Given the description of an element on the screen output the (x, y) to click on. 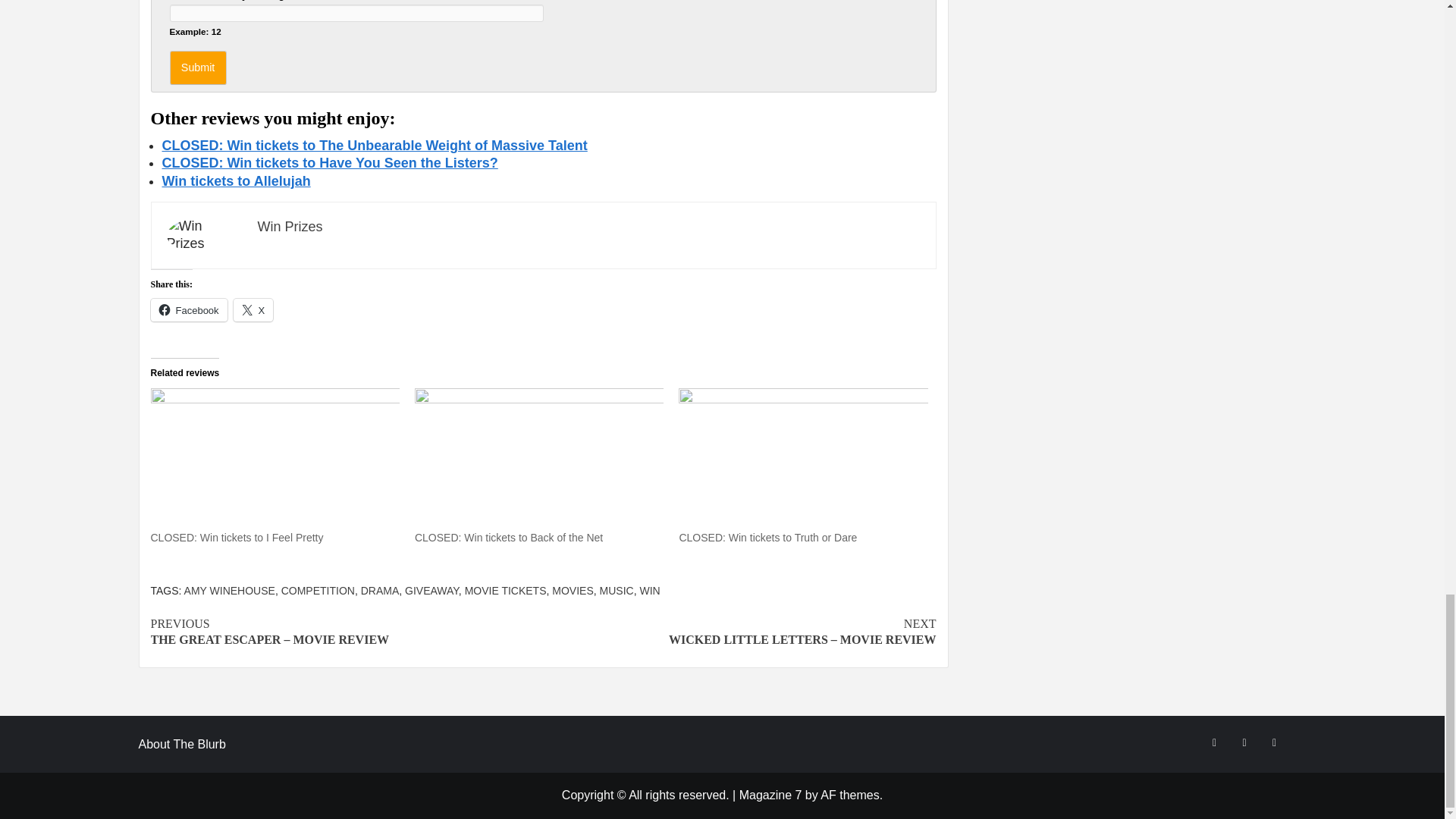
CLOSED: Win tickets to I Feel Pretty (236, 537)
CLOSED: Win tickets to I Feel Pretty (236, 537)
Click to share on Facebook (188, 309)
CLOSED: Win tickets to Truth or Dare (767, 537)
CLOSED: Win tickets to Truth or Dare (767, 537)
GIVEAWAY (431, 590)
CLOSED: Win tickets to Have You Seen the Listers? (329, 162)
DRAMA (379, 590)
COMPETITION (318, 590)
CLOSED: Win tickets to Have You Seen the Listers? (329, 162)
X (252, 309)
Win tickets to Allelujah (236, 181)
MOVIES (571, 590)
Win Prizes (290, 226)
